Given the description of an element on the screen output the (x, y) to click on. 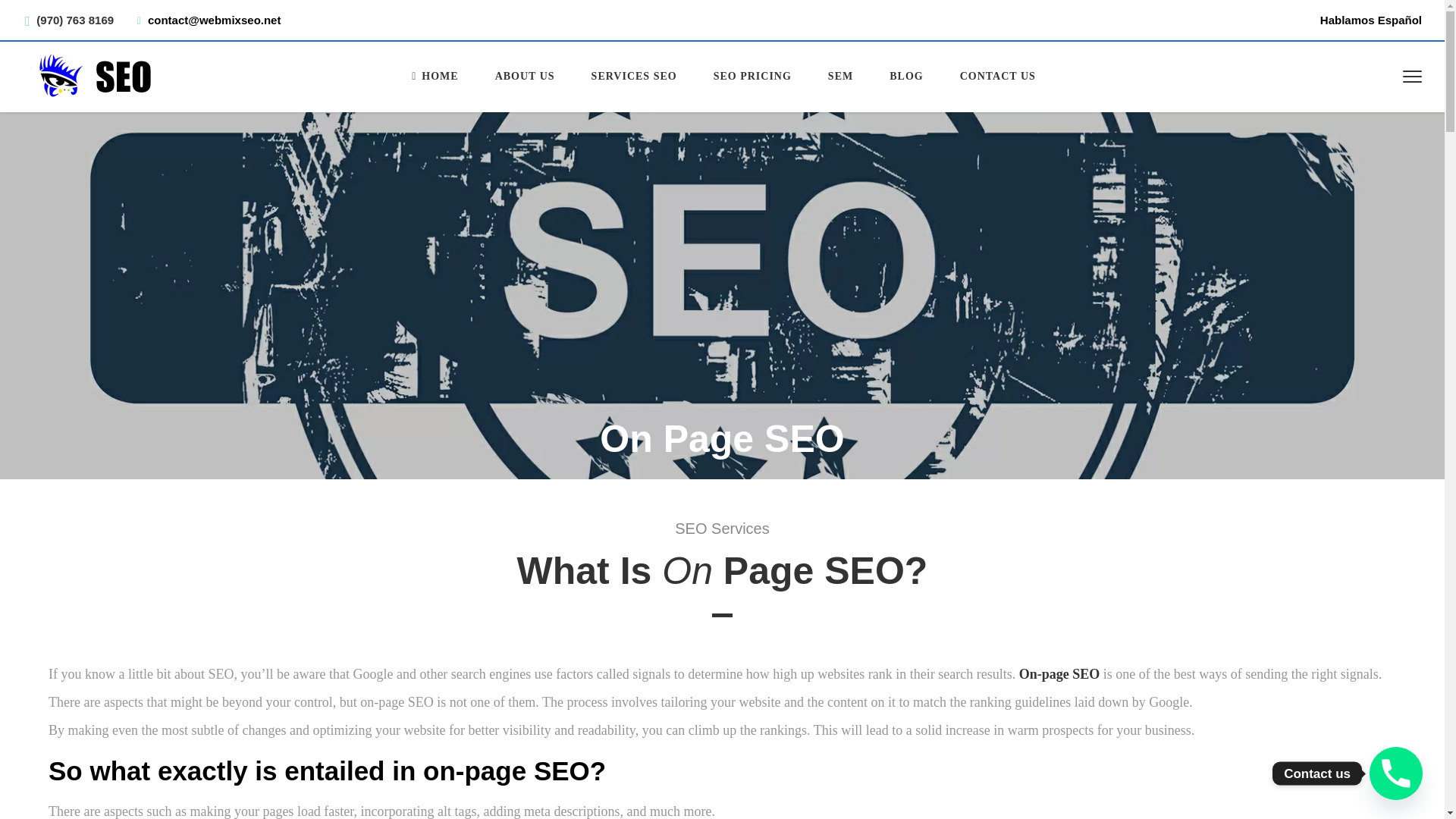
CONTACT US (998, 75)
Denver SEO (434, 75)
SERVICES SEO (634, 75)
BLOG (905, 75)
SEO PRICING (752, 75)
SEM (839, 75)
HOME (434, 75)
ABOUT US (525, 75)
